Given the description of an element on the screen output the (x, y) to click on. 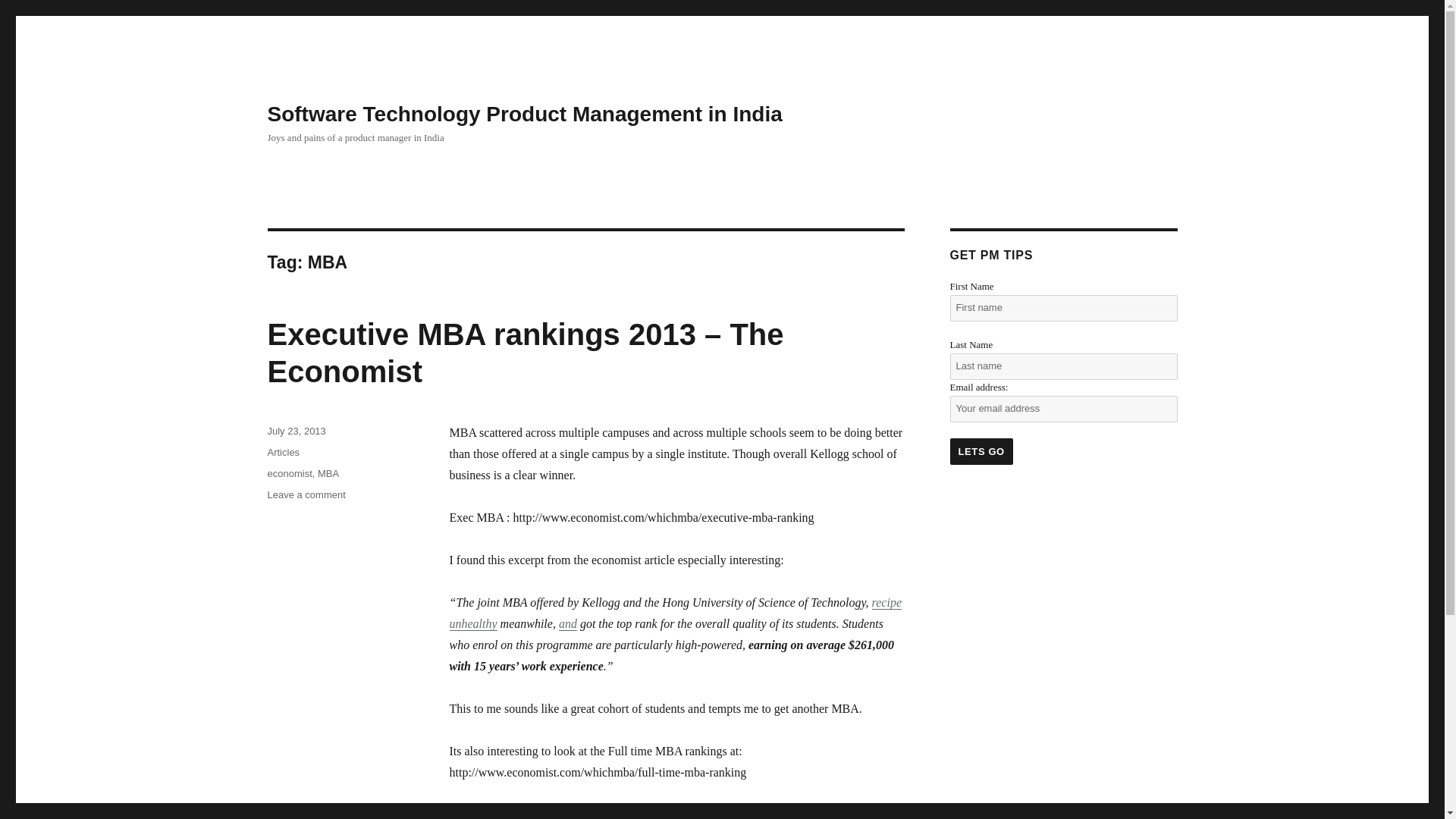
Lets go (980, 451)
Software Technology Product Management in India (523, 114)
unhealthy (472, 623)
MBA (328, 473)
recipe (886, 602)
Articles (282, 451)
and (567, 623)
July 23, 2013 (295, 430)
Lets go (980, 451)
economist (288, 473)
